Given the description of an element on the screen output the (x, y) to click on. 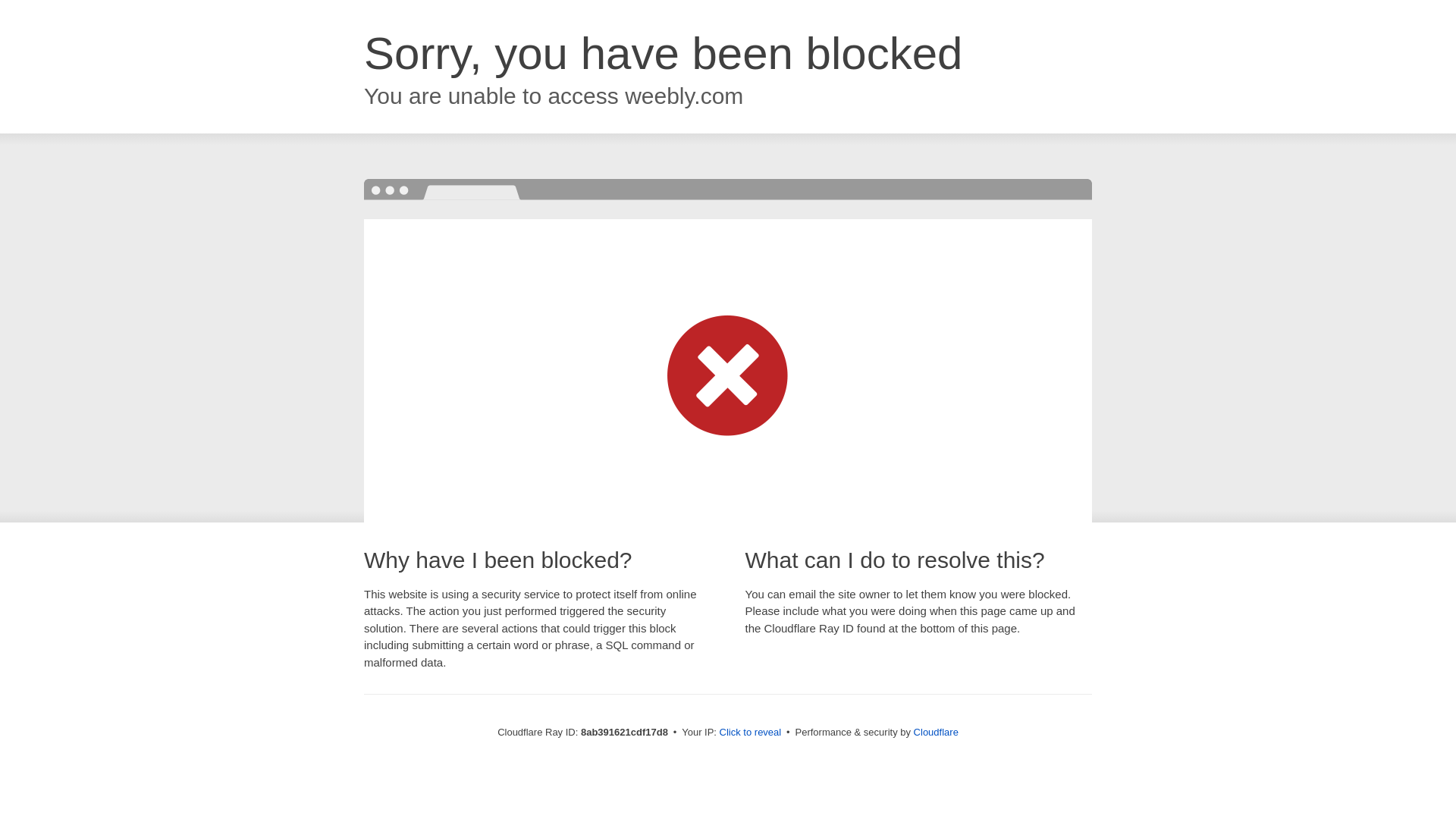
Cloudflare (936, 731)
Click to reveal (750, 732)
